Given the description of an element on the screen output the (x, y) to click on. 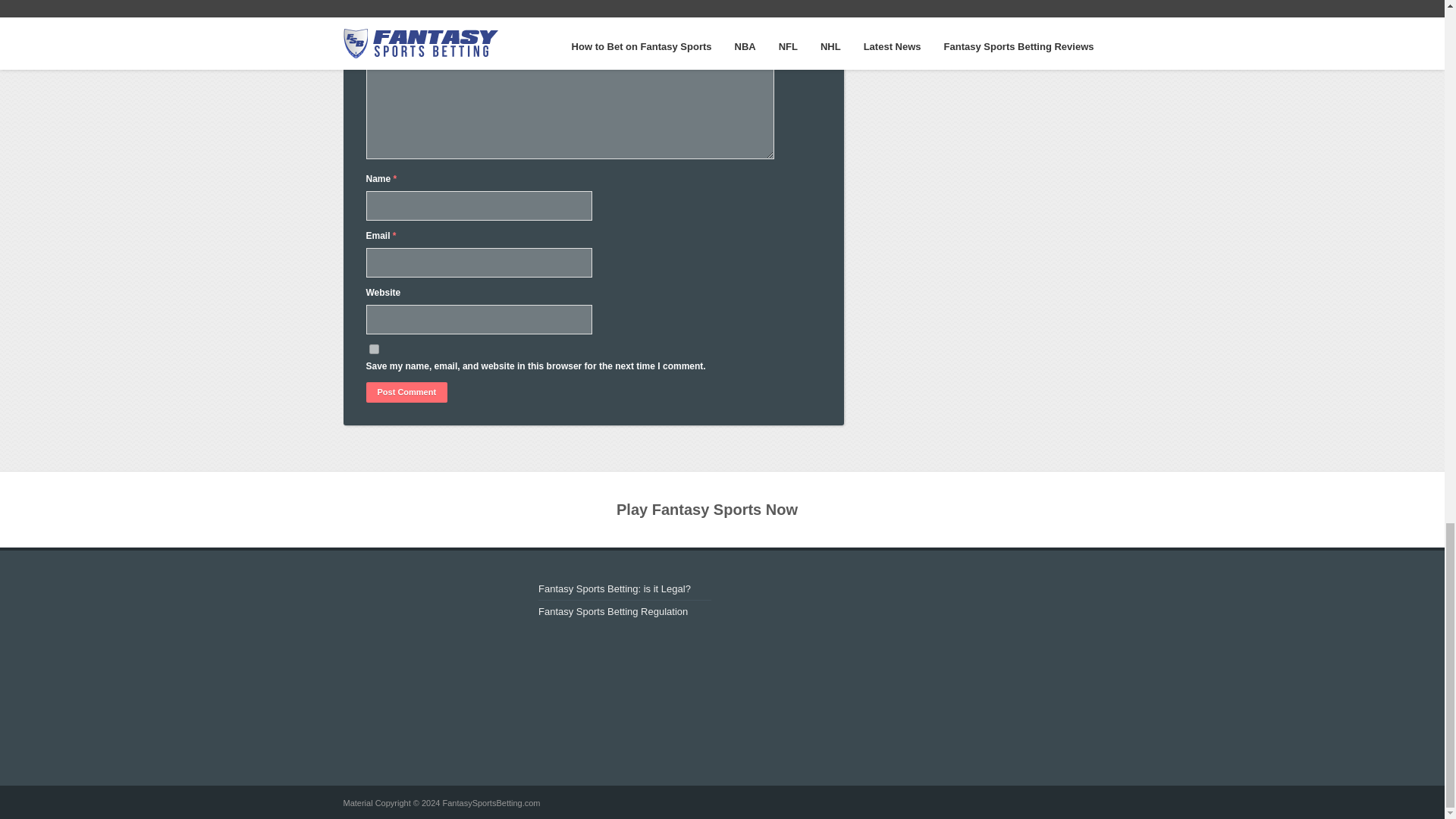
yes (373, 348)
Post Comment (405, 392)
Post Comment (405, 392)
